Given the description of an element on the screen output the (x, y) to click on. 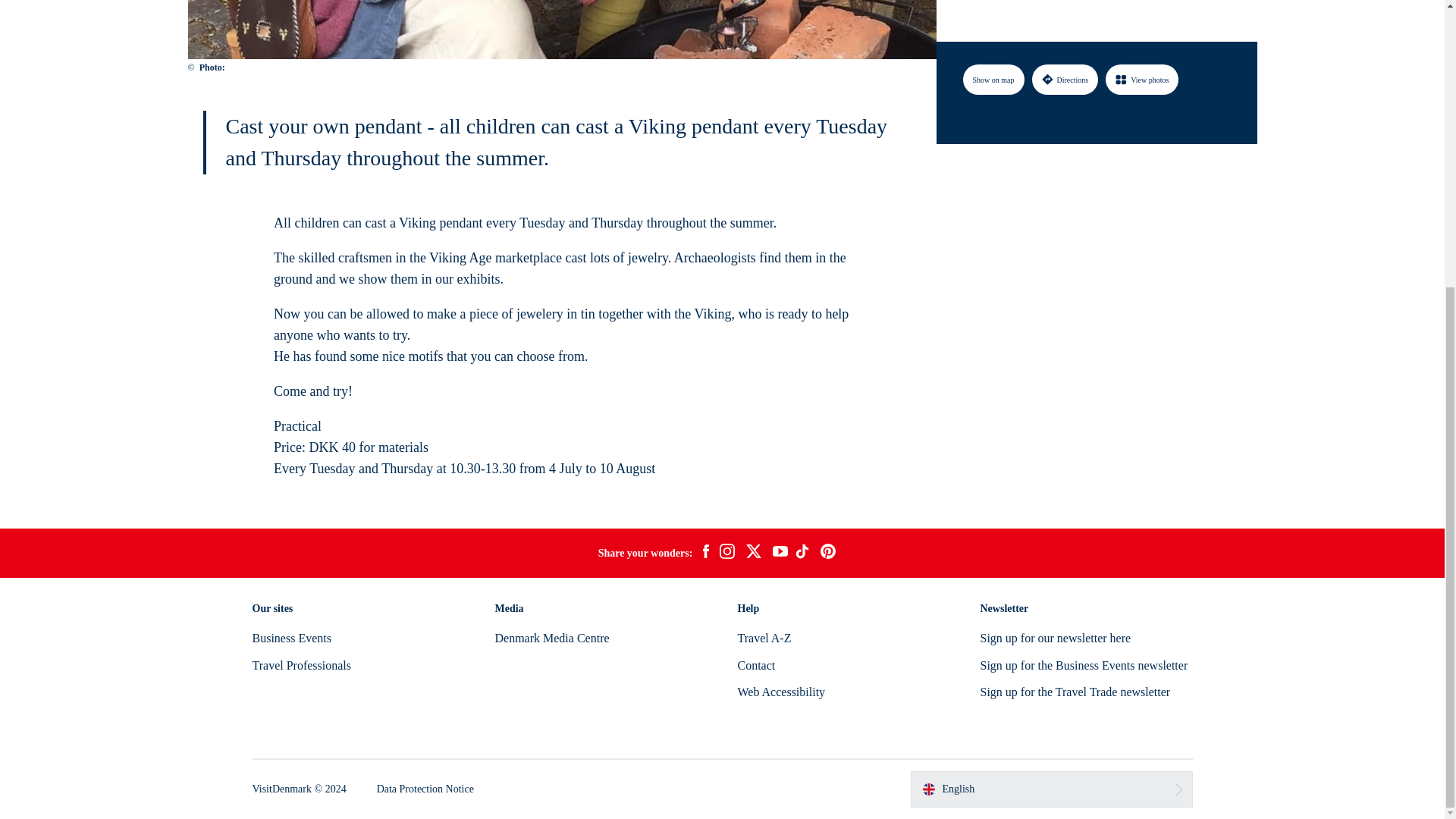
Contact (755, 665)
Travel Professionals (300, 665)
youtube (780, 553)
Contact (755, 665)
tiktok (804, 553)
facebook (705, 553)
Business Events (290, 637)
Business Events (290, 637)
Sign up for our newsletter here (1055, 637)
Sign up for the Travel Trade newsletter (1074, 691)
